Given the description of an element on the screen output the (x, y) to click on. 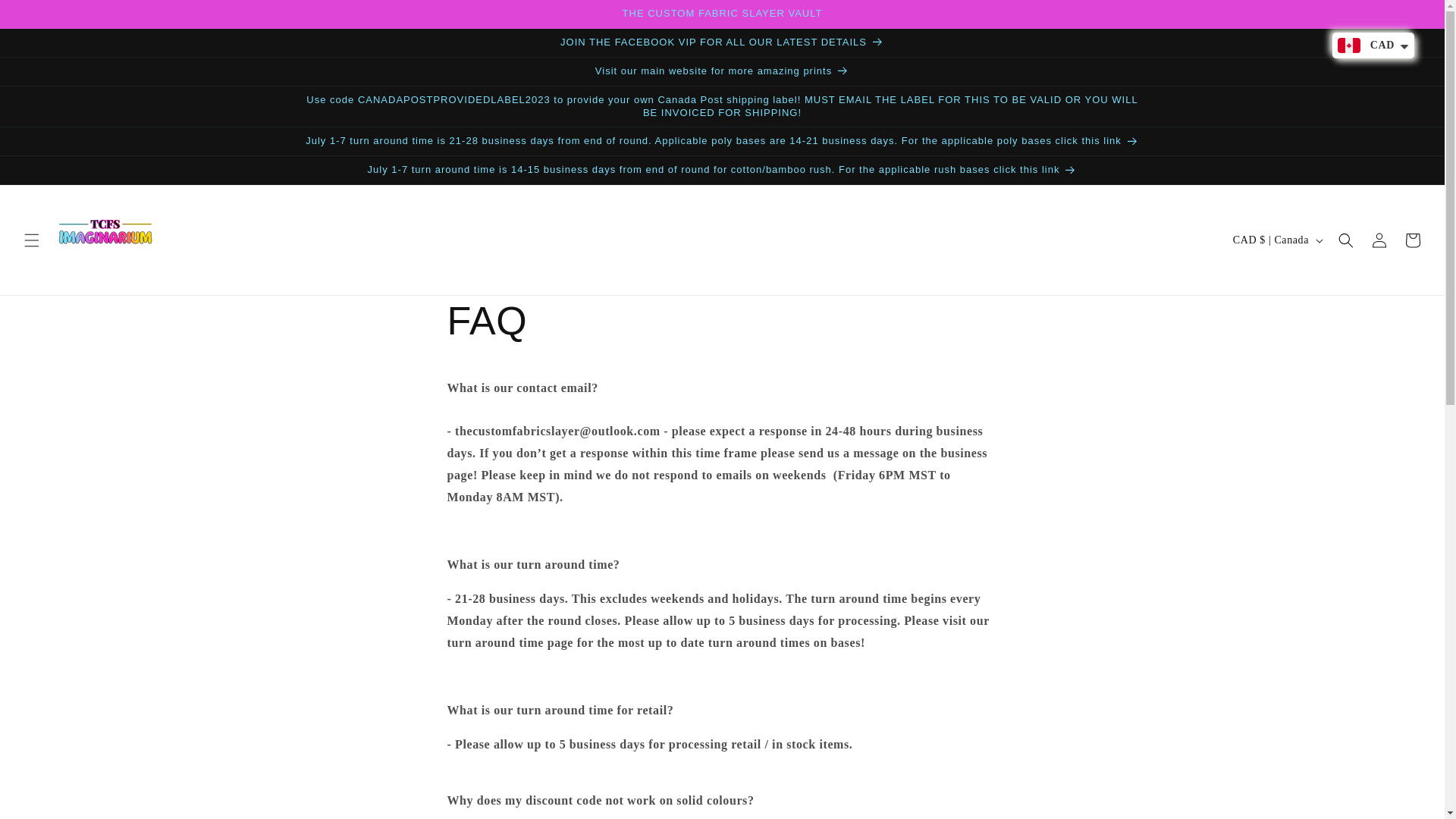
Skip to content (45, 17)
